Given the description of an element on the screen output the (x, y) to click on. 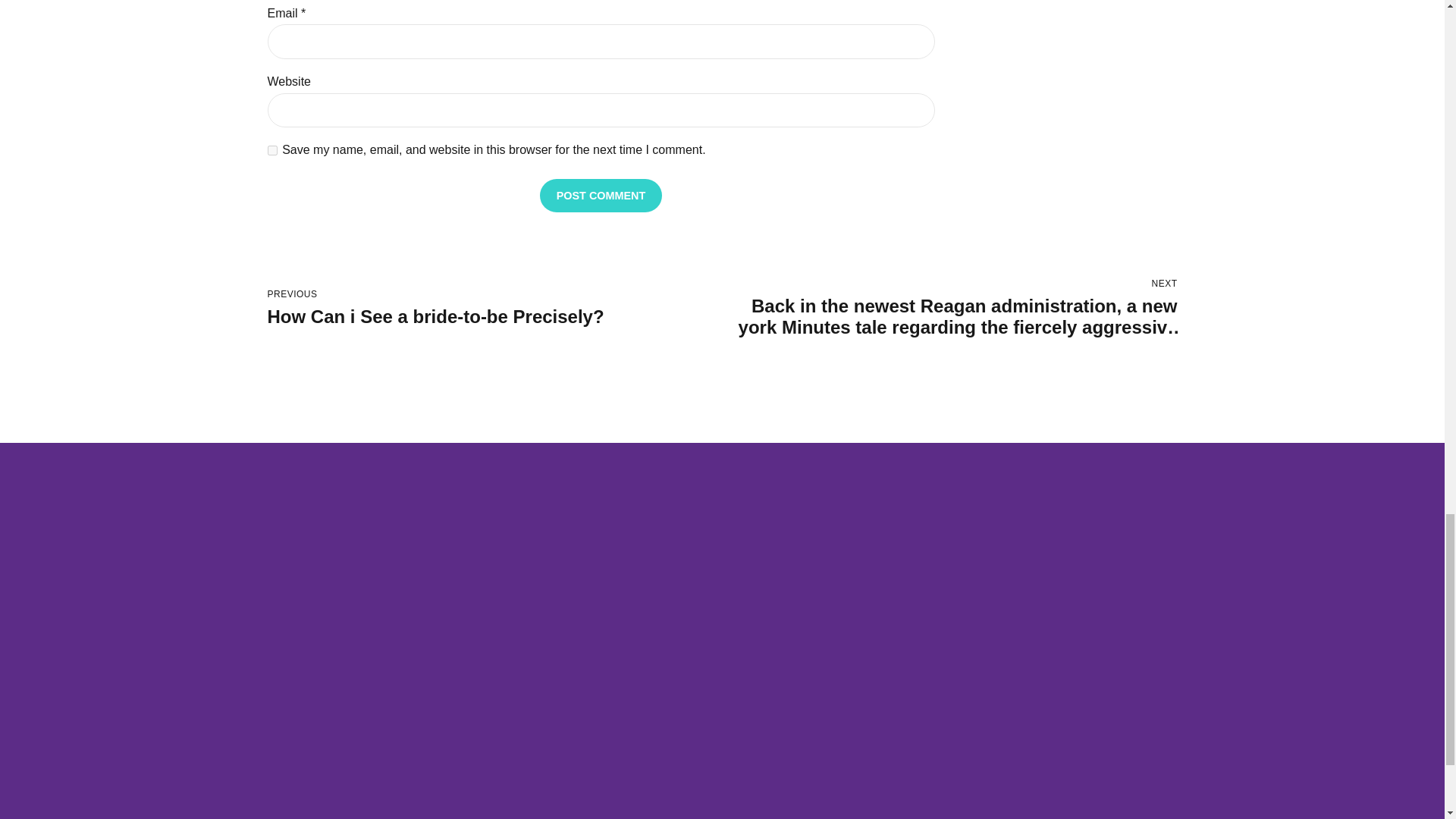
yes (271, 150)
POST COMMENT (494, 308)
